Given the description of an element on the screen output the (x, y) to click on. 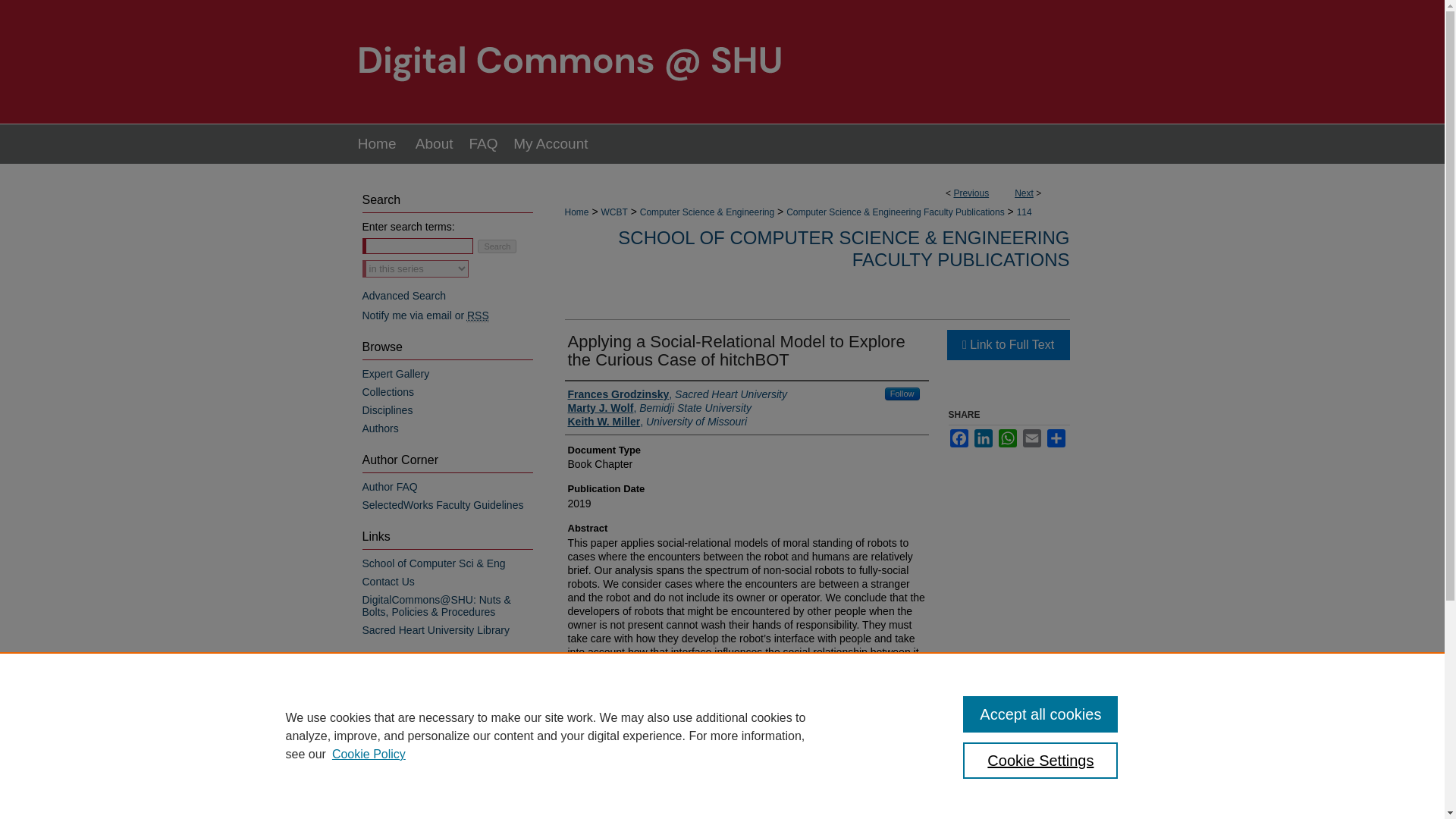
My Account (550, 143)
Search (496, 246)
Link opens in new window (1007, 345)
WCBT (613, 212)
Email or RSS Notifications (447, 315)
Facebook (958, 438)
Email (1031, 438)
Keith W. Miller, University of Missouri (656, 421)
Search (496, 246)
Home (376, 143)
Home (576, 212)
Link to Full Text (1007, 345)
Advanced Search (404, 295)
Expert Gallery (447, 373)
Marty J. Wolf, Bemidji State University (659, 407)
